Given the description of an element on the screen output the (x, y) to click on. 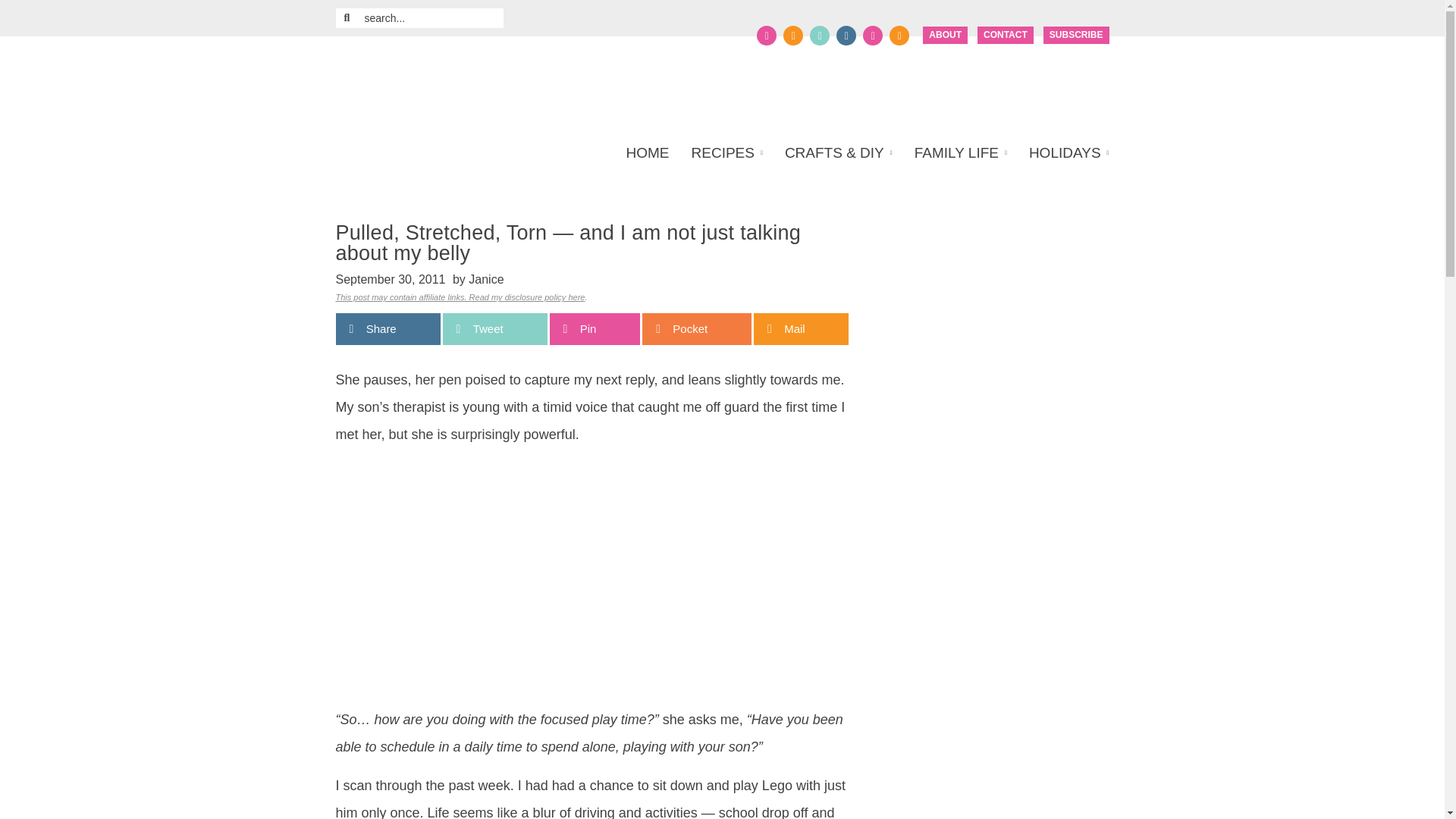
5 Minutes for Mom (480, 82)
Follow 5 Minutes For Mom on Pinterest (819, 35)
RECIPES (726, 153)
SUBSCRIBE (1076, 35)
HOME (652, 153)
Follow 5 Minutes For Mom via RSS (898, 35)
Follow 5 Minutes For Mom on YouTube (872, 35)
CONTACT (1004, 35)
Follow 5 Minutes For Mom on Twitter (793, 35)
Follow 5 Minutes For Mom on Facebook (766, 35)
Follow 5 Minutes For Mom on Instagram (845, 35)
ABOUT (945, 35)
